Given the description of an element on the screen output the (x, y) to click on. 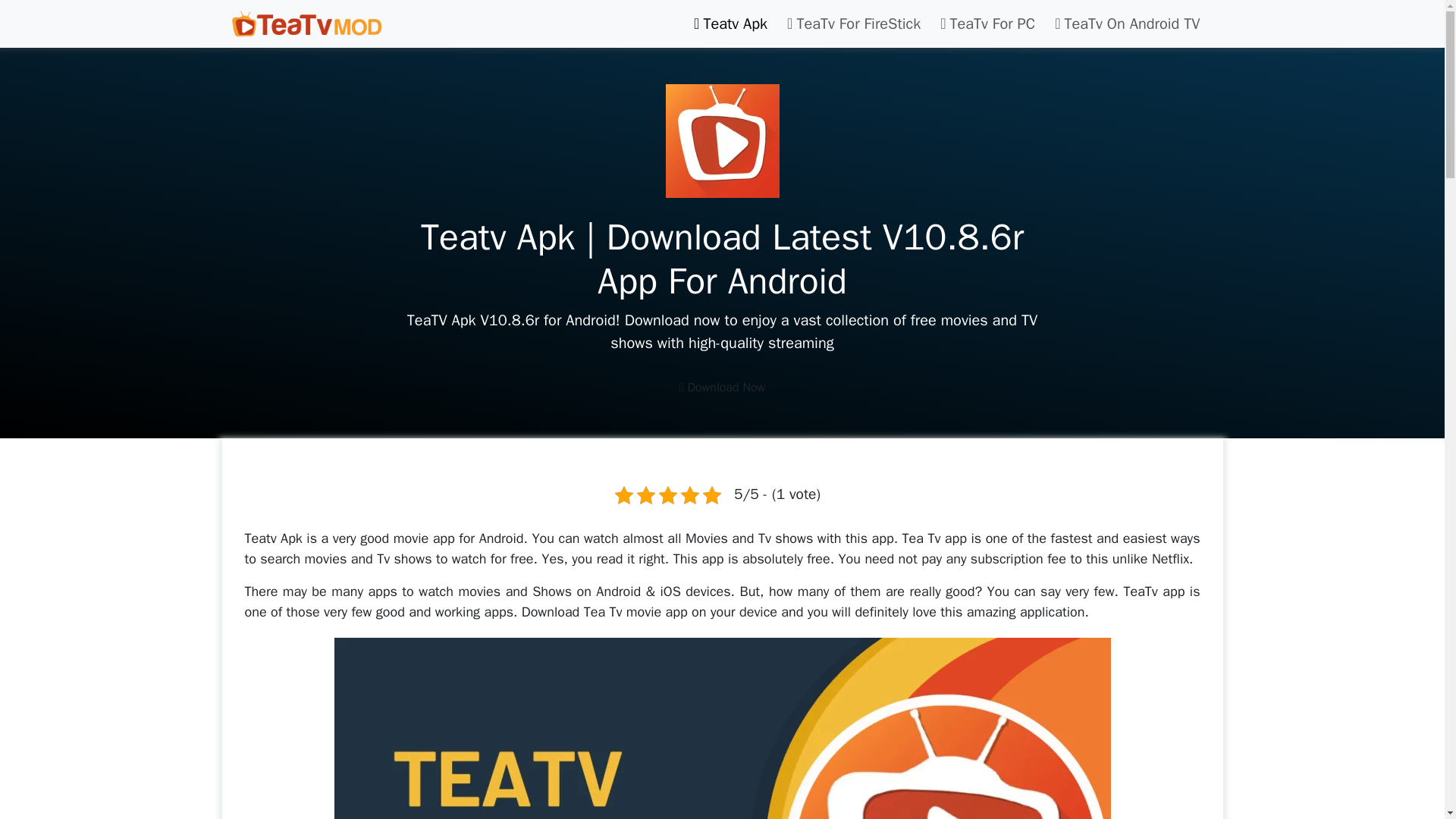
TeaTv For FireStick (853, 22)
Download Now (721, 387)
TeaTv For PC (987, 22)
Teatv Apk (730, 22)
TeaTv On Android TV (1126, 22)
